Given the description of an element on the screen output the (x, y) to click on. 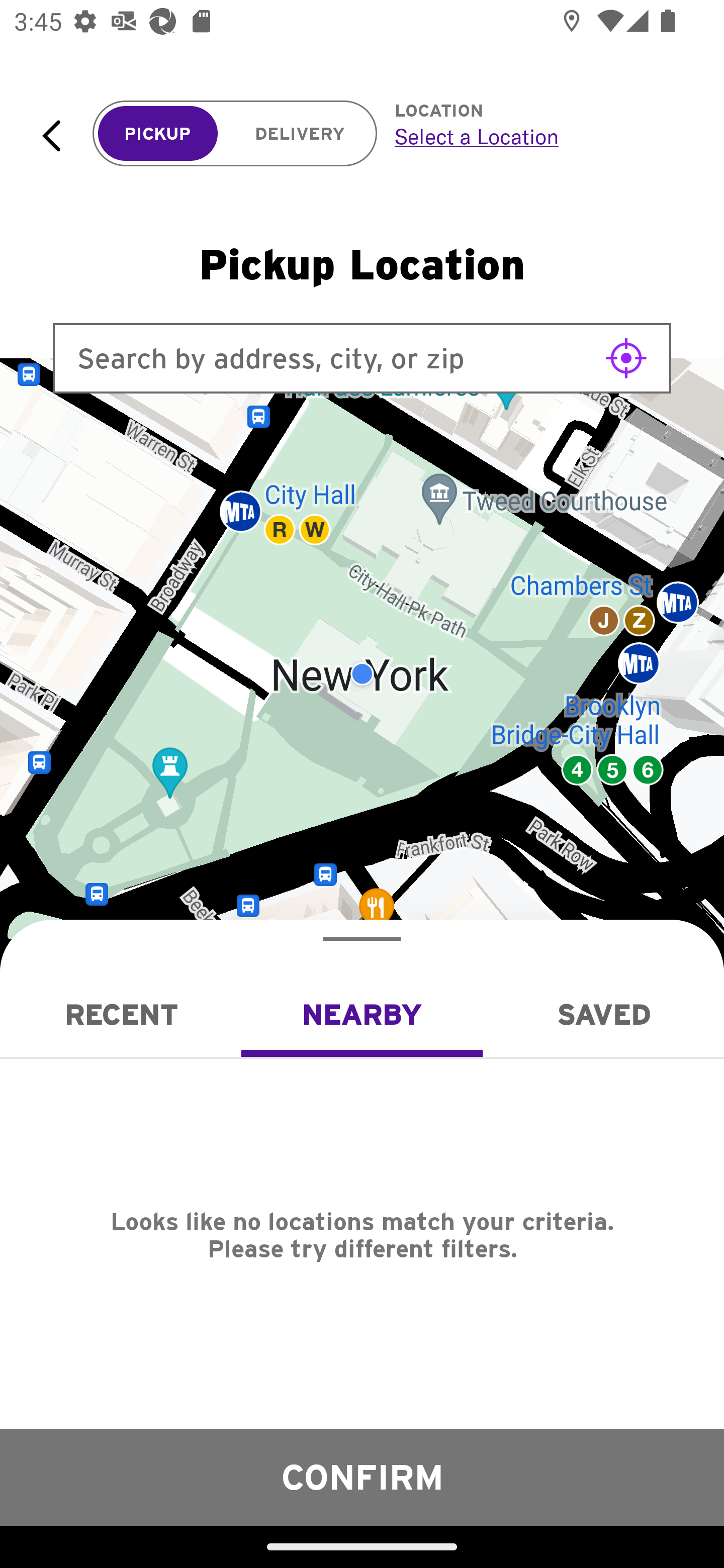
PICKUP (157, 133)
DELIVERY (299, 133)
Select a Location (536, 136)
Search by address, city, or zip (361, 358)
Google Map (362, 674)
Recent RECENT (120, 1014)
Saved SAVED (603, 1014)
CONFIRM (362, 1476)
